Given the description of an element on the screen output the (x, y) to click on. 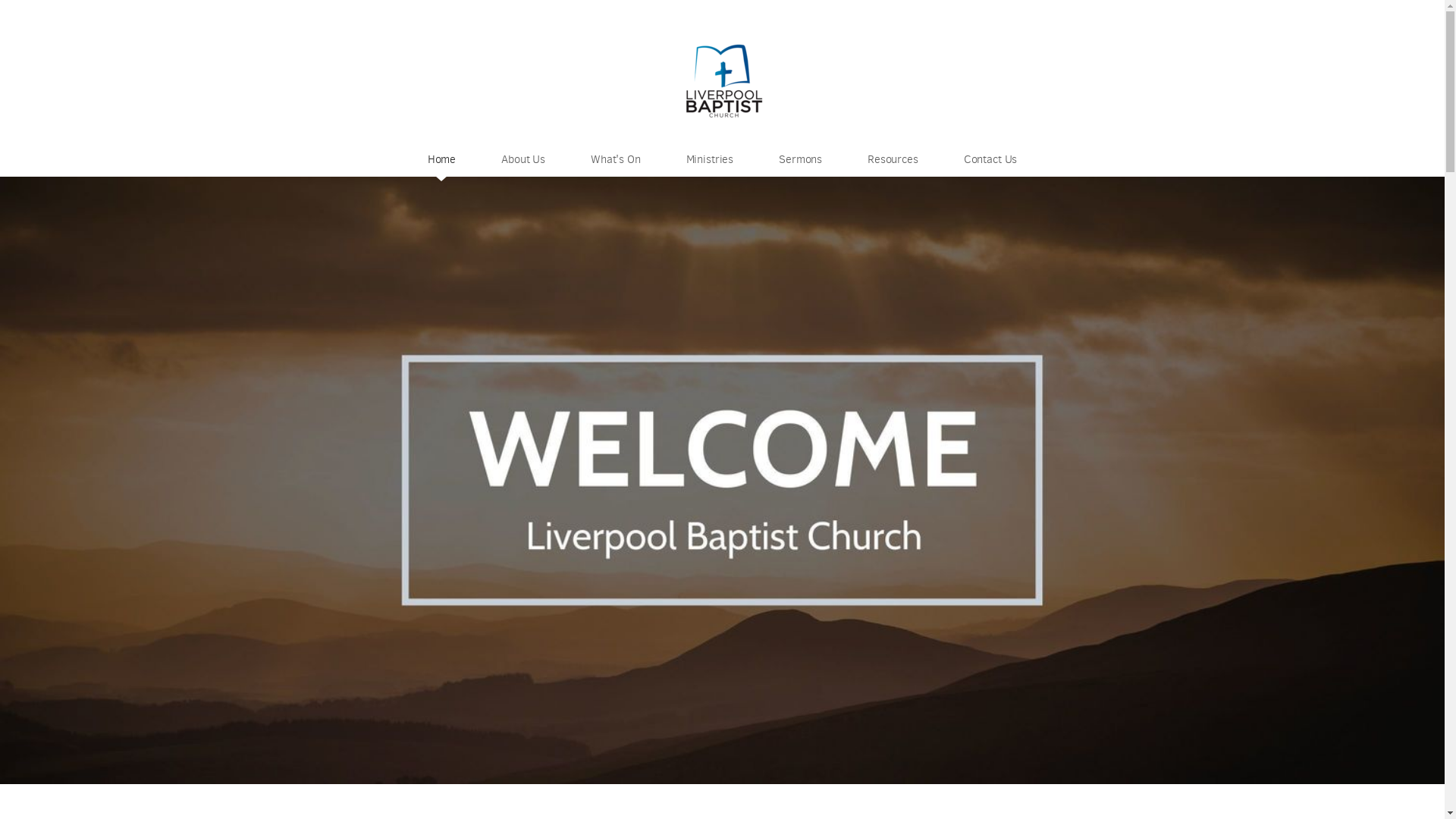
Resources Element type: text (892, 158)
Contact Us Element type: text (990, 158)
Sermons Element type: text (800, 158)
Home Element type: text (441, 158)
Ministries Element type: text (710, 158)
What's On Element type: text (615, 158)
About Us Element type: text (523, 158)
